Given the description of an element on the screen output the (x, y) to click on. 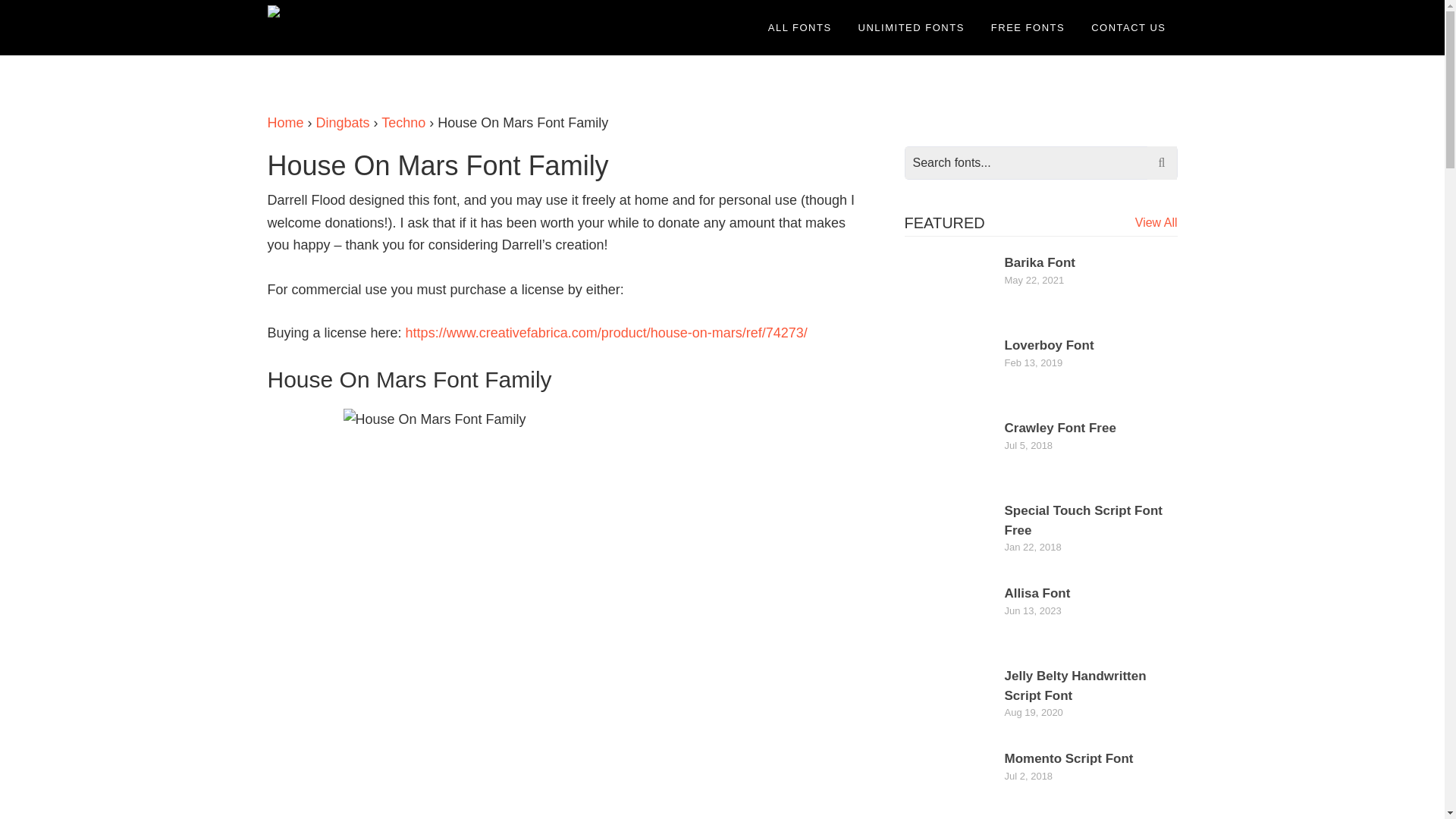
FREE FONTS (1027, 27)
ALL FONTS (800, 27)
Dingbats (342, 122)
Home (284, 122)
UNLIMITED FONTS (911, 27)
Techno (403, 122)
CONTACT US (1128, 27)
View All (1156, 222)
